Given the description of an element on the screen output the (x, y) to click on. 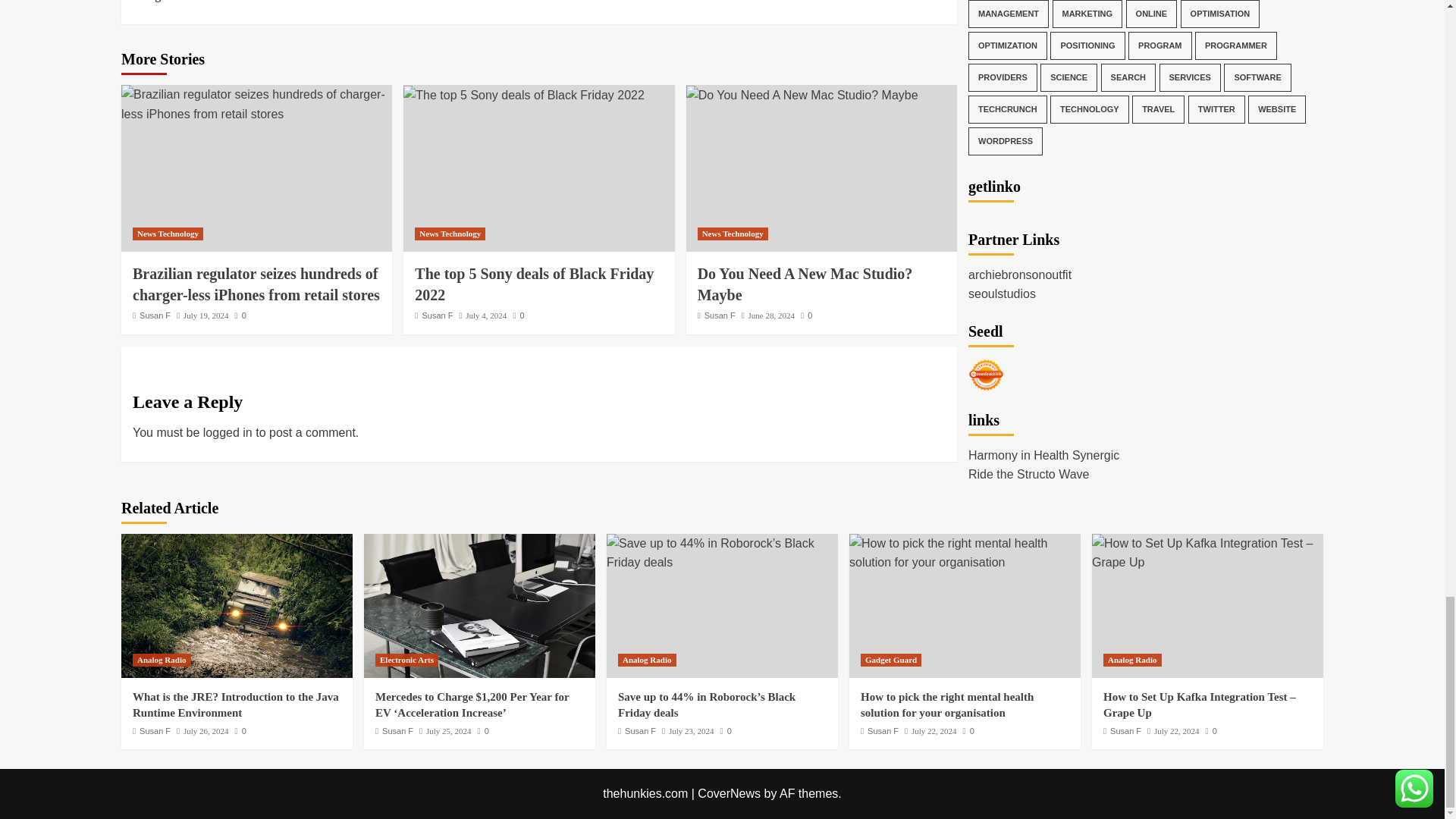
Do You Need A New Mac Studio? Maybe (801, 95)
0 (240, 315)
July 19, 2024 (205, 315)
News Technology (449, 233)
The top 5 Sony deals of Black Friday 2022 (524, 95)
Susan F (154, 315)
News Technology (167, 233)
